Given the description of an element on the screen output the (x, y) to click on. 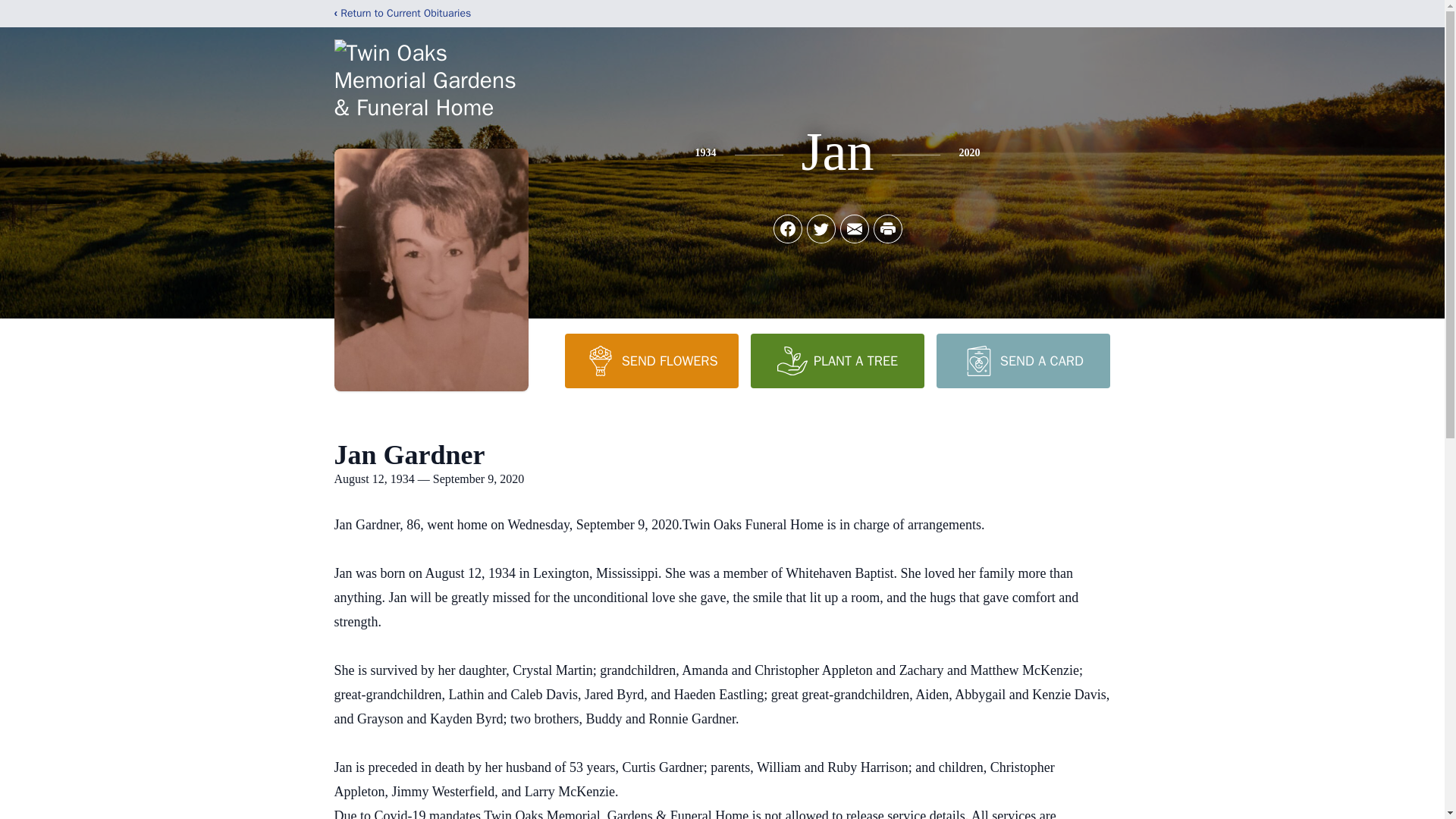
SEND A CARD (1022, 360)
PLANT A TREE (837, 360)
SEND FLOWERS (651, 360)
